Given the description of an element on the screen output the (x, y) to click on. 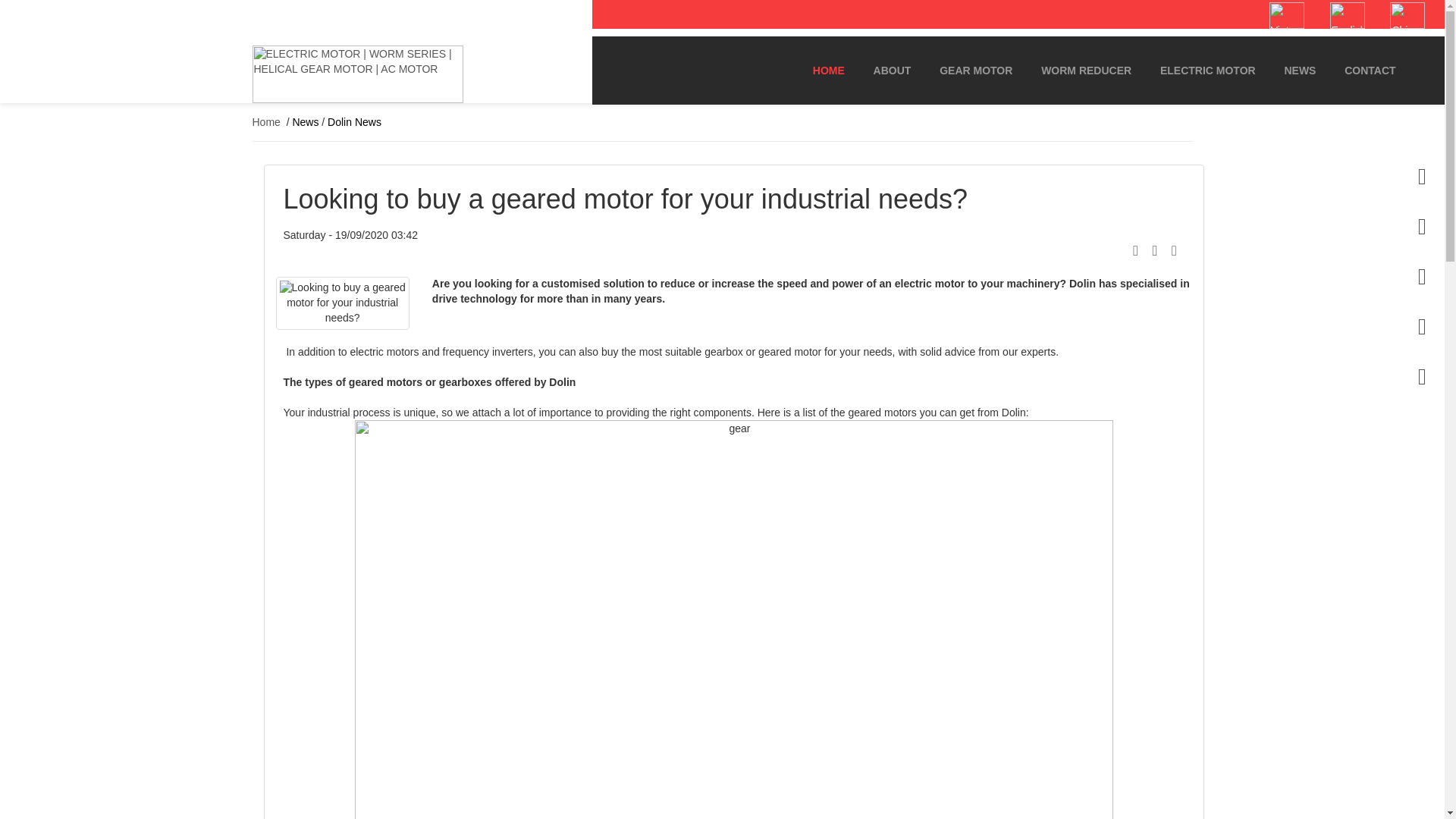
ELECTRIC MOTOR (1207, 70)
Home (265, 121)
WORM REDUCER (1086, 70)
Dolin News (354, 121)
CONTACT (1368, 70)
GEAR MOTOR (975, 70)
HOME (828, 70)
ABOUT (892, 70)
News (305, 121)
